Given the description of an element on the screen output the (x, y) to click on. 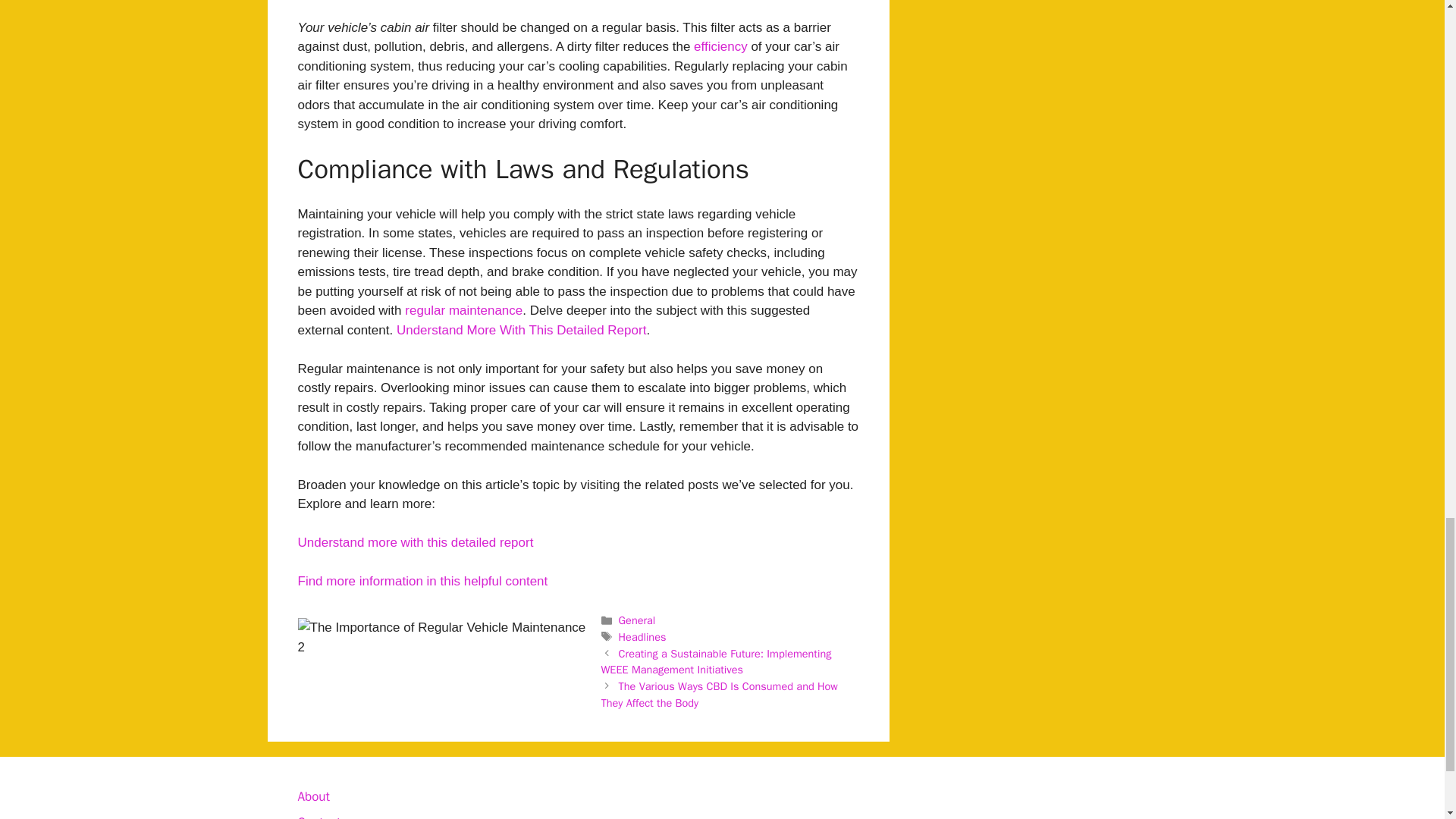
About (313, 796)
Understand More With This Detailed Report (521, 329)
regular maintenance (463, 310)
Understand more with this detailed report (414, 542)
Find more information in this helpful content (422, 581)
General (637, 620)
efficiency (721, 46)
Contact (318, 816)
